Given the description of an element on the screen output the (x, y) to click on. 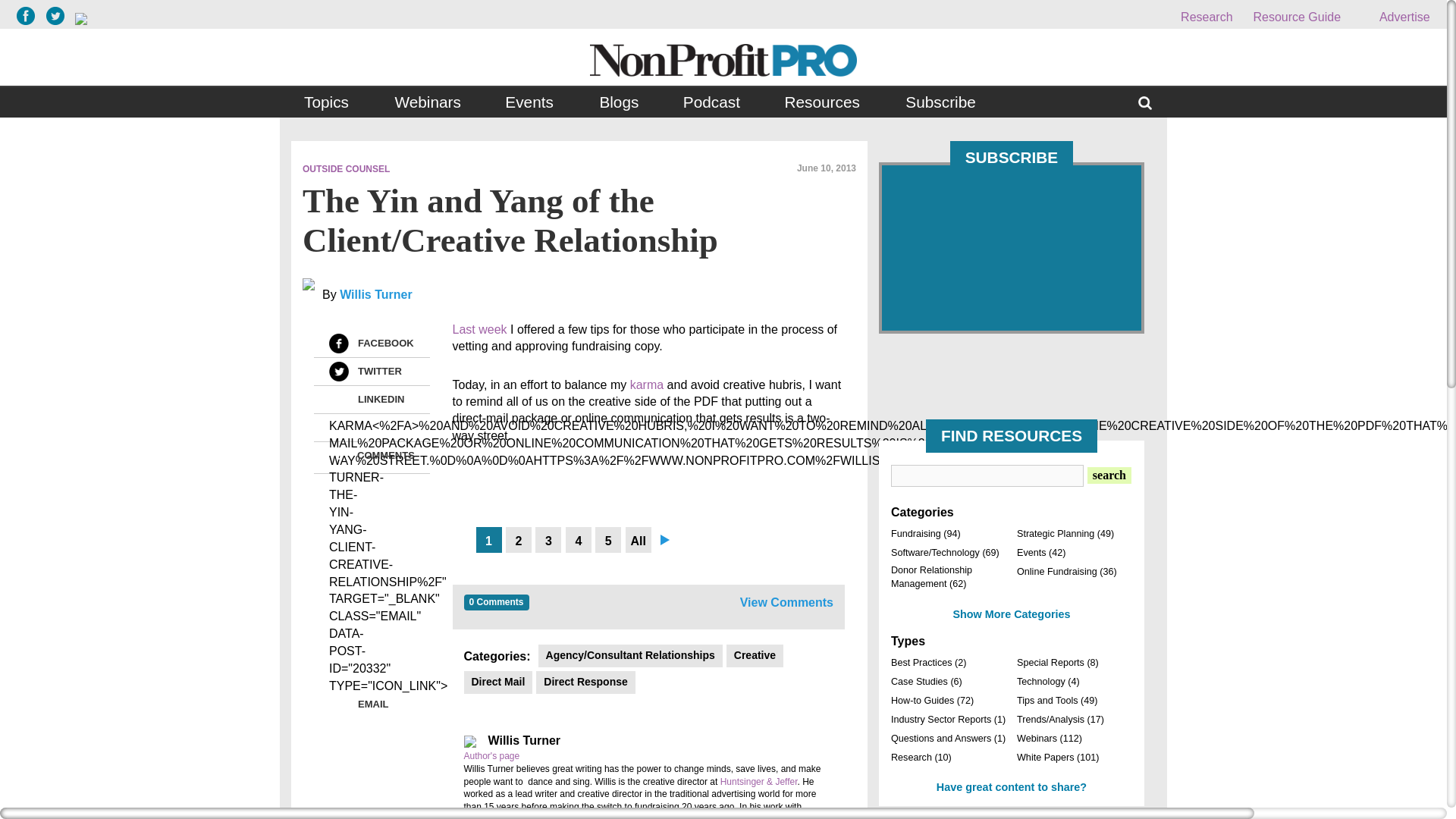
Webinars (426, 101)
Email Link (339, 427)
Advertise (1395, 16)
search (1109, 475)
Twitter (339, 371)
Research (1205, 16)
Topics (327, 101)
LinkedIn (339, 399)
Resource Guide (1296, 16)
Events (530, 101)
